Given the description of an element on the screen output the (x, y) to click on. 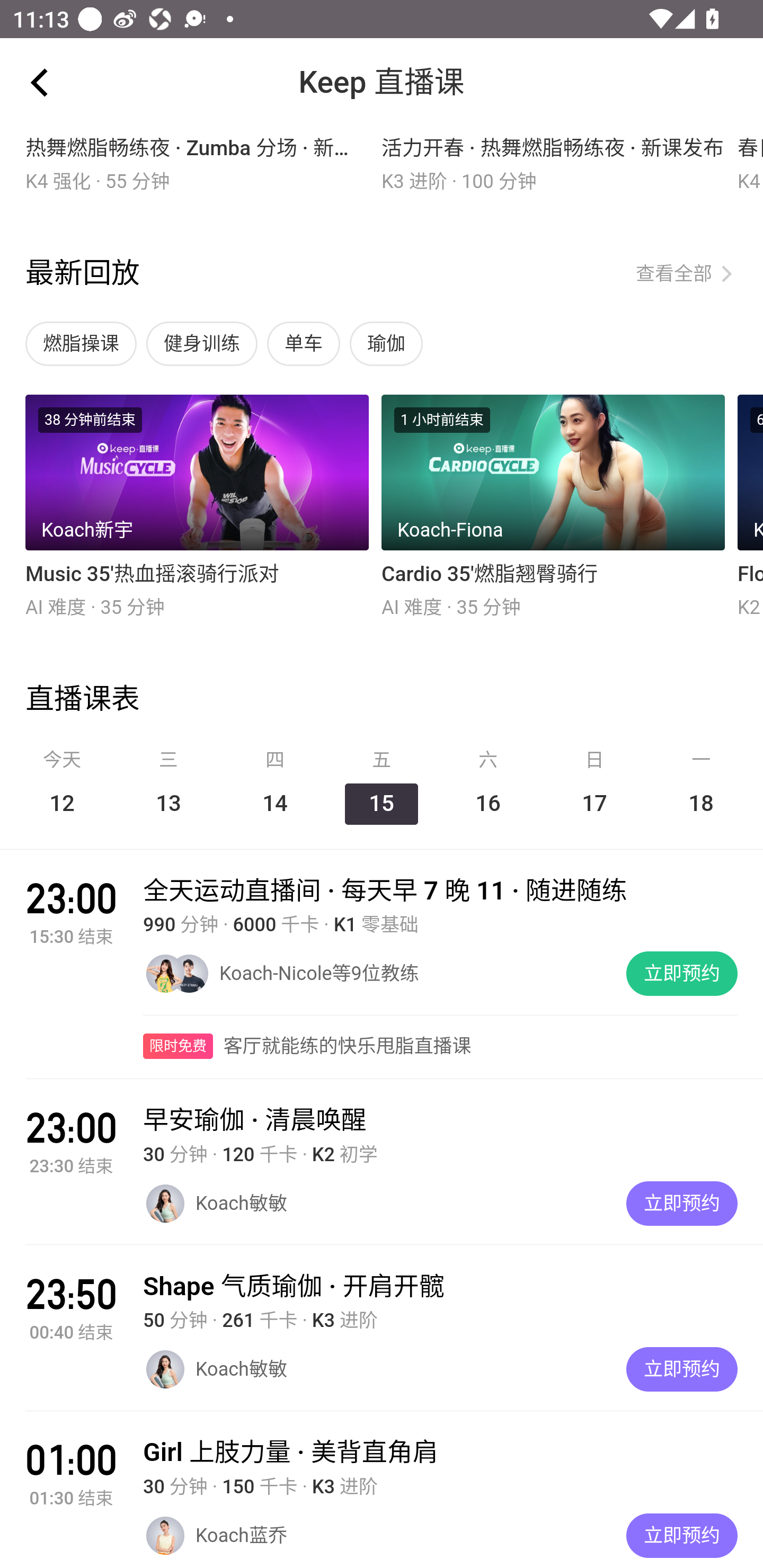
查看全部 (685, 274)
燃脂操课 (81, 344)
健身训练 (202, 344)
单车 (304, 344)
瑜伽 (386, 344)
38 分钟前结束 Koach新宇 Music 35'热血摇滚骑行派对 AI 难度 · 35 分钟 (196, 507)
1 小时前结束 Koach-Fiona Cardio 35'燃脂翘臀骑行 AI 难度 · 35 分钟 (552, 507)
今天12 (61, 786)
三13 (168, 786)
四14 (274, 786)
五15 (381, 786)
六16 (487, 786)
日17 (594, 786)
一18 (700, 786)
